Given the description of an element on the screen output the (x, y) to click on. 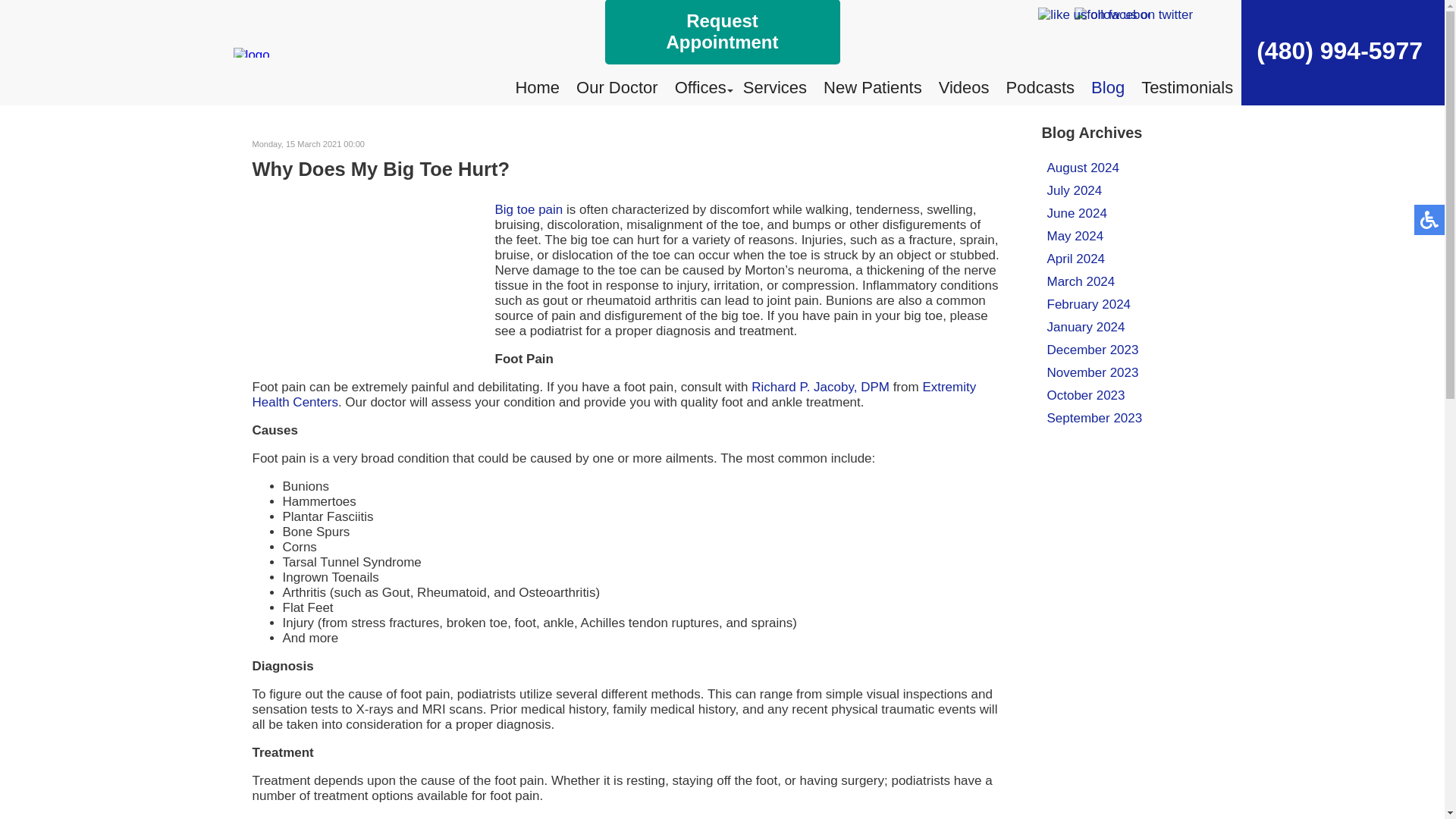
Richard P. Jacoby, DPM (820, 386)
February 2024 (1088, 304)
Blog (1107, 87)
Services (774, 87)
May 2024 (1074, 236)
Scottsdale (747, 817)
March 2024 (1080, 281)
New Patients (872, 87)
Extremity Health Centers (613, 394)
Request Appointment (722, 31)
